Given the description of an element on the screen output the (x, y) to click on. 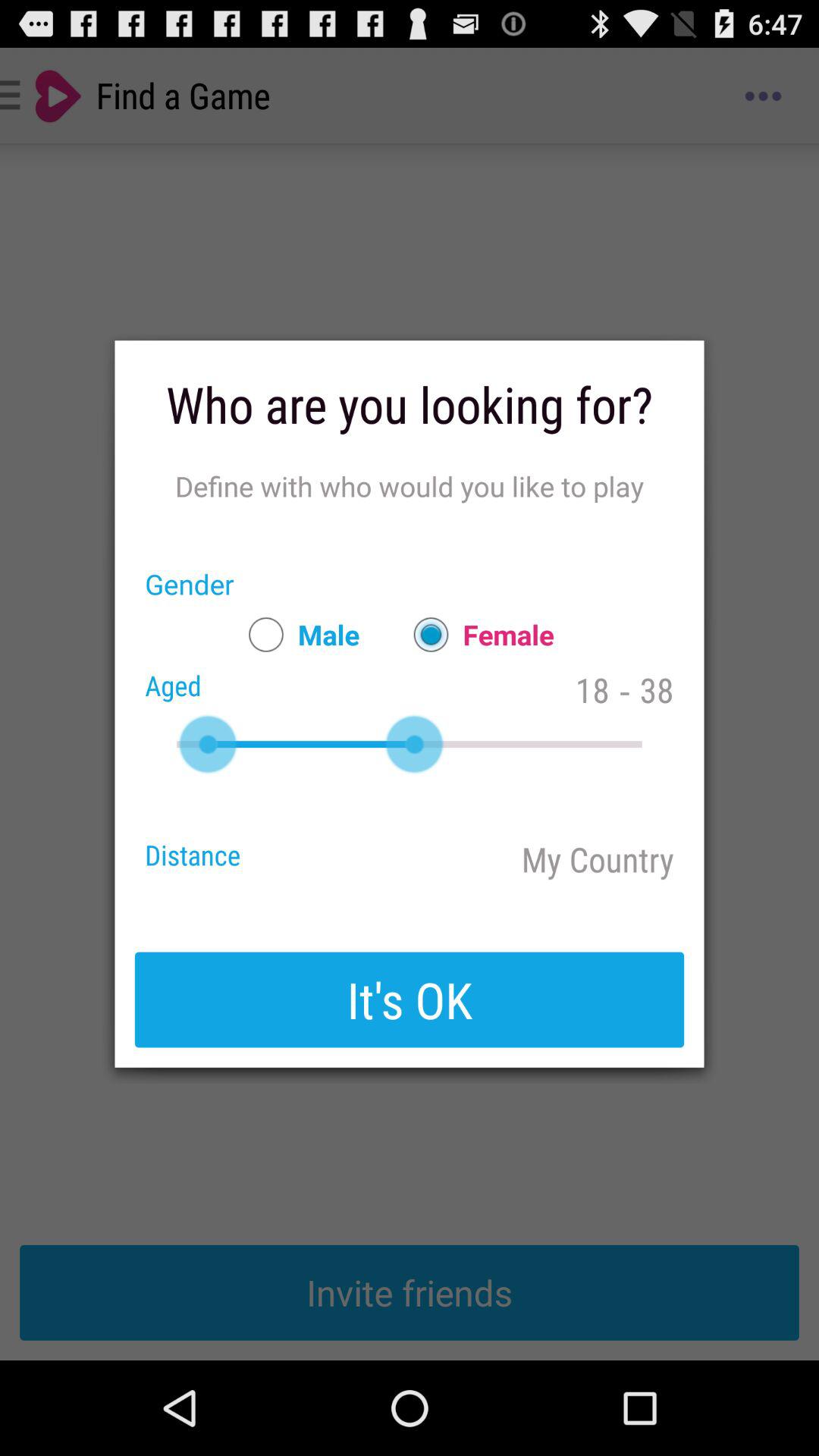
select the item next to 18 icon (476, 634)
